Given the description of an element on the screen output the (x, y) to click on. 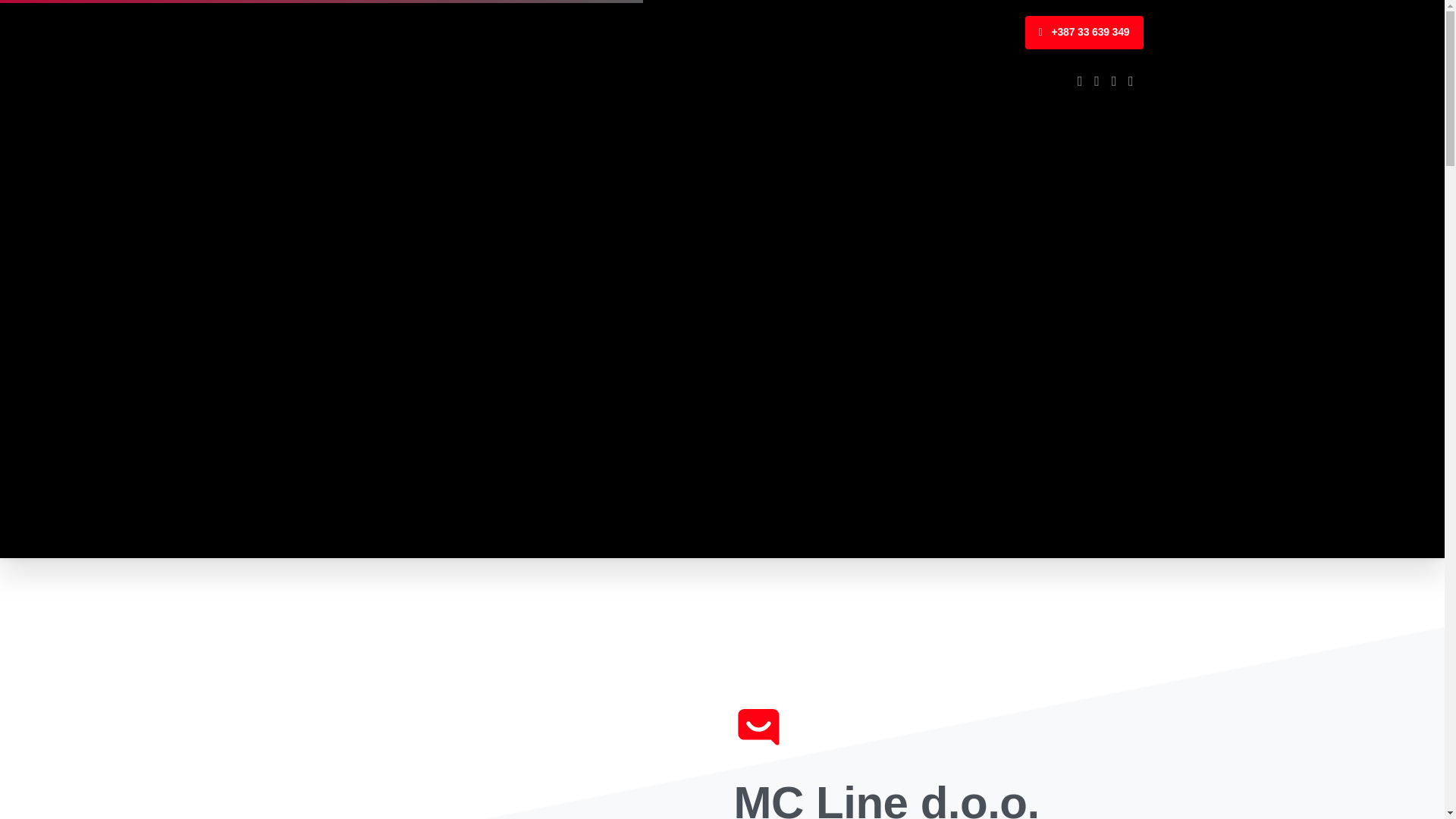
Facebook Element type: hover (1096, 80)
instagram Element type: hover (1130, 80)
Google Element type: hover (1113, 80)
Skype Element type: hover (1079, 80)
+387 33 639 349 Element type: text (1084, 32)
